Given the description of an element on the screen output the (x, y) to click on. 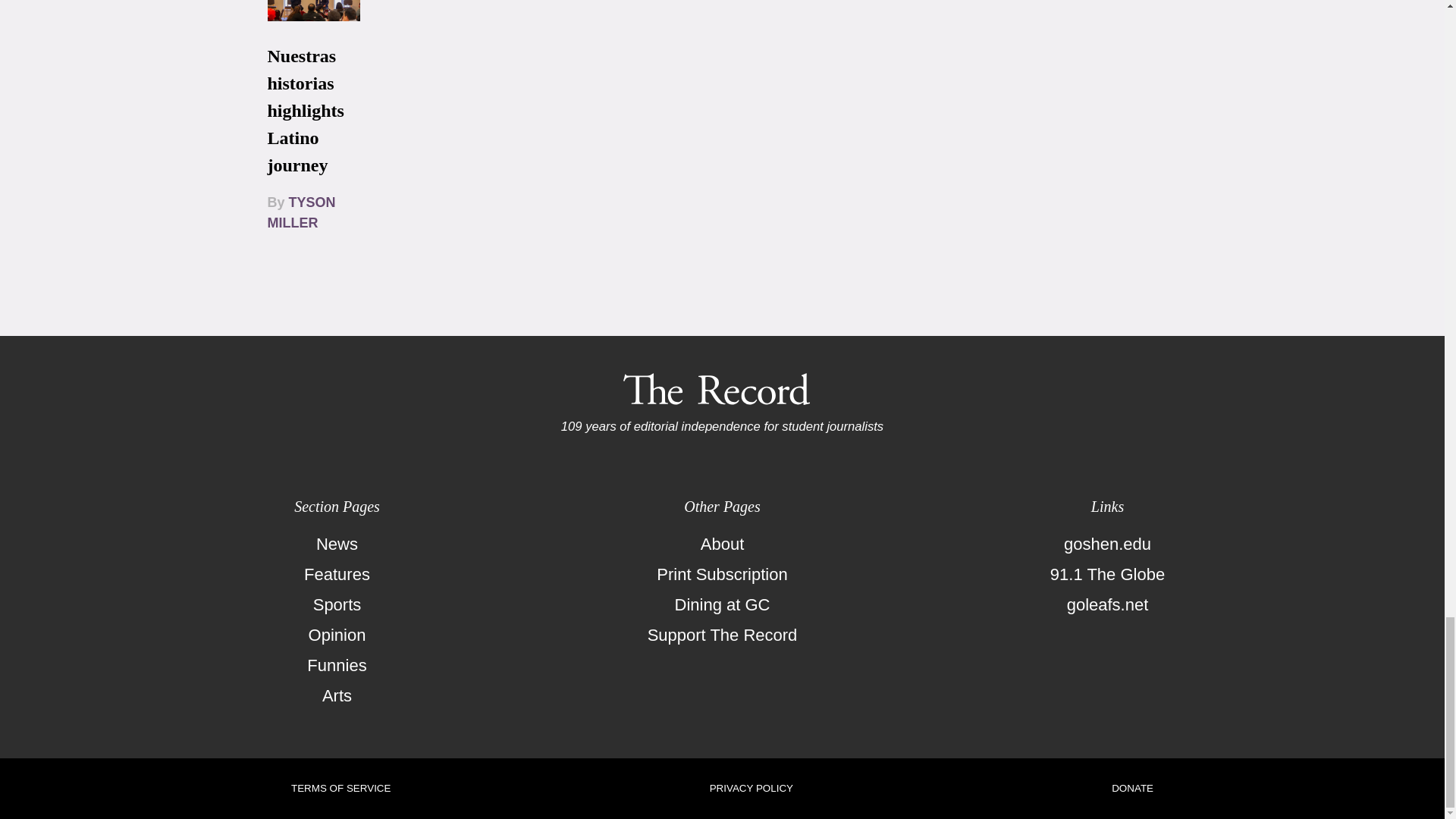
Opinion (336, 634)
About (722, 544)
Features (336, 574)
TYSON MILLER (300, 212)
Print Subscription (722, 574)
Dining at GC (722, 604)
Sports (336, 604)
Funnies (336, 665)
News (336, 544)
Arts (336, 695)
